Given the description of an element on the screen output the (x, y) to click on. 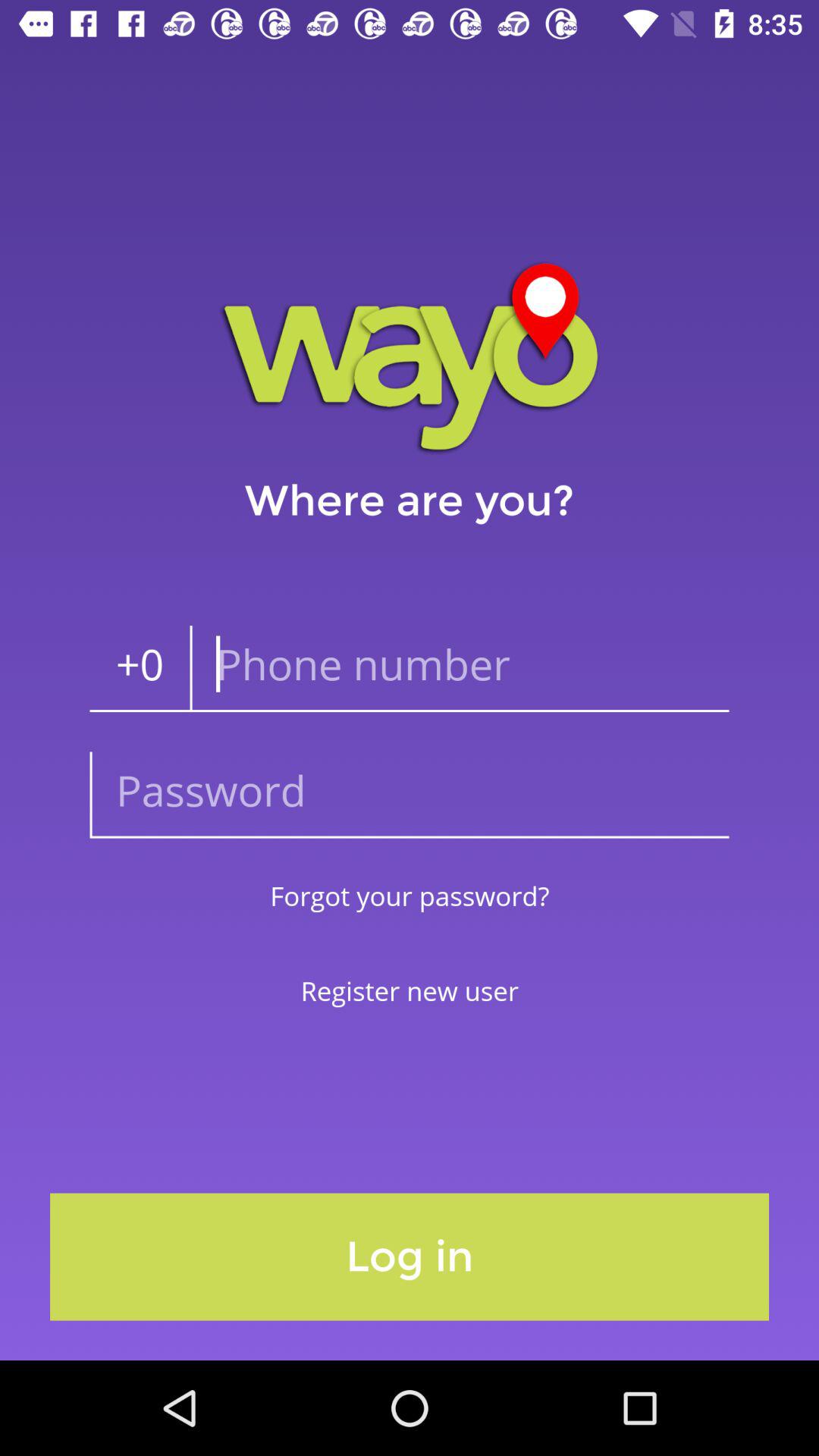
flip to register new user item (409, 990)
